Given the description of an element on the screen output the (x, y) to click on. 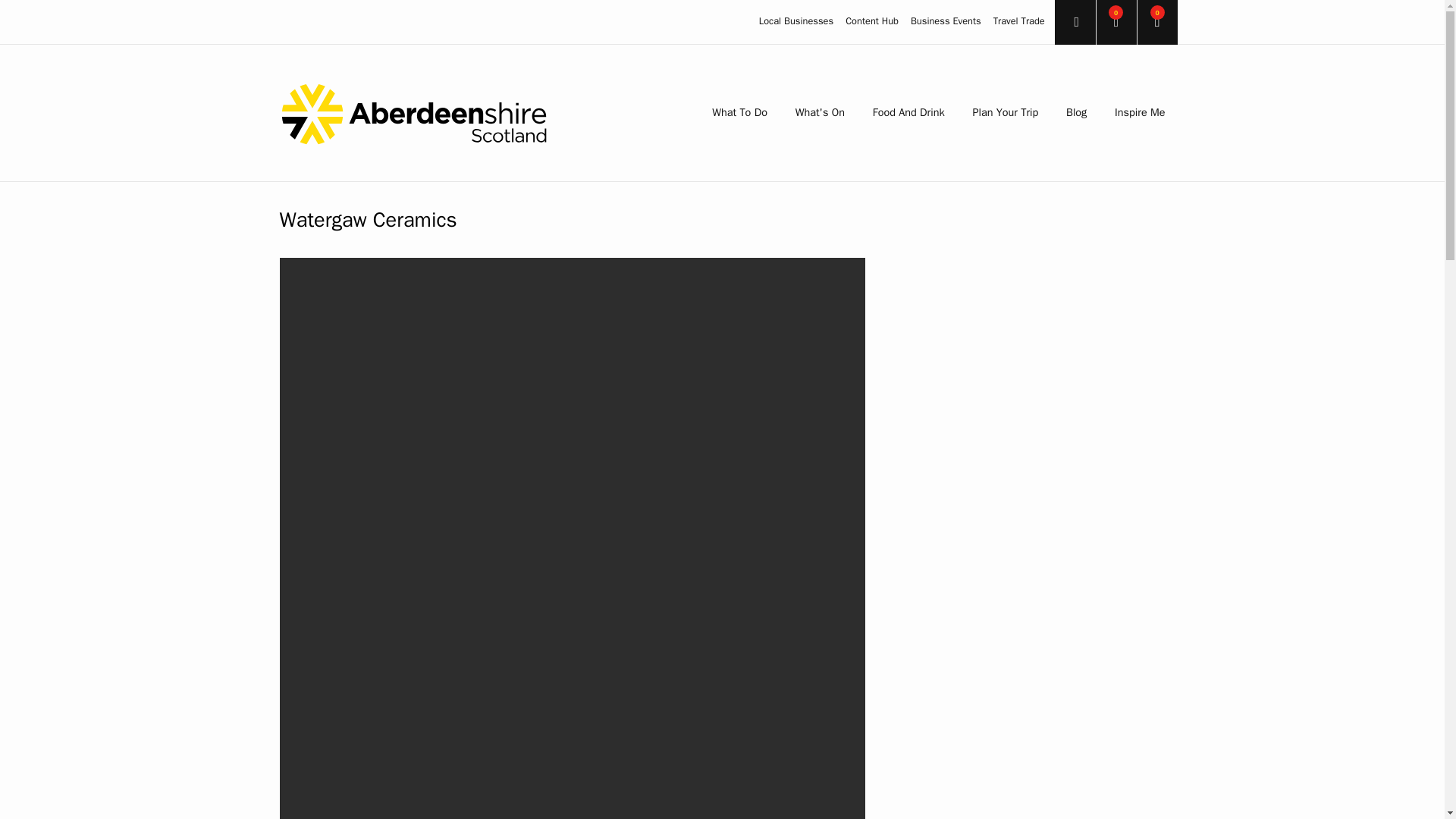
Business Events (946, 21)
Travel Trade (1018, 21)
Content Hub (871, 21)
Local Businesses (795, 21)
